Given the description of an element on the screen output the (x, y) to click on. 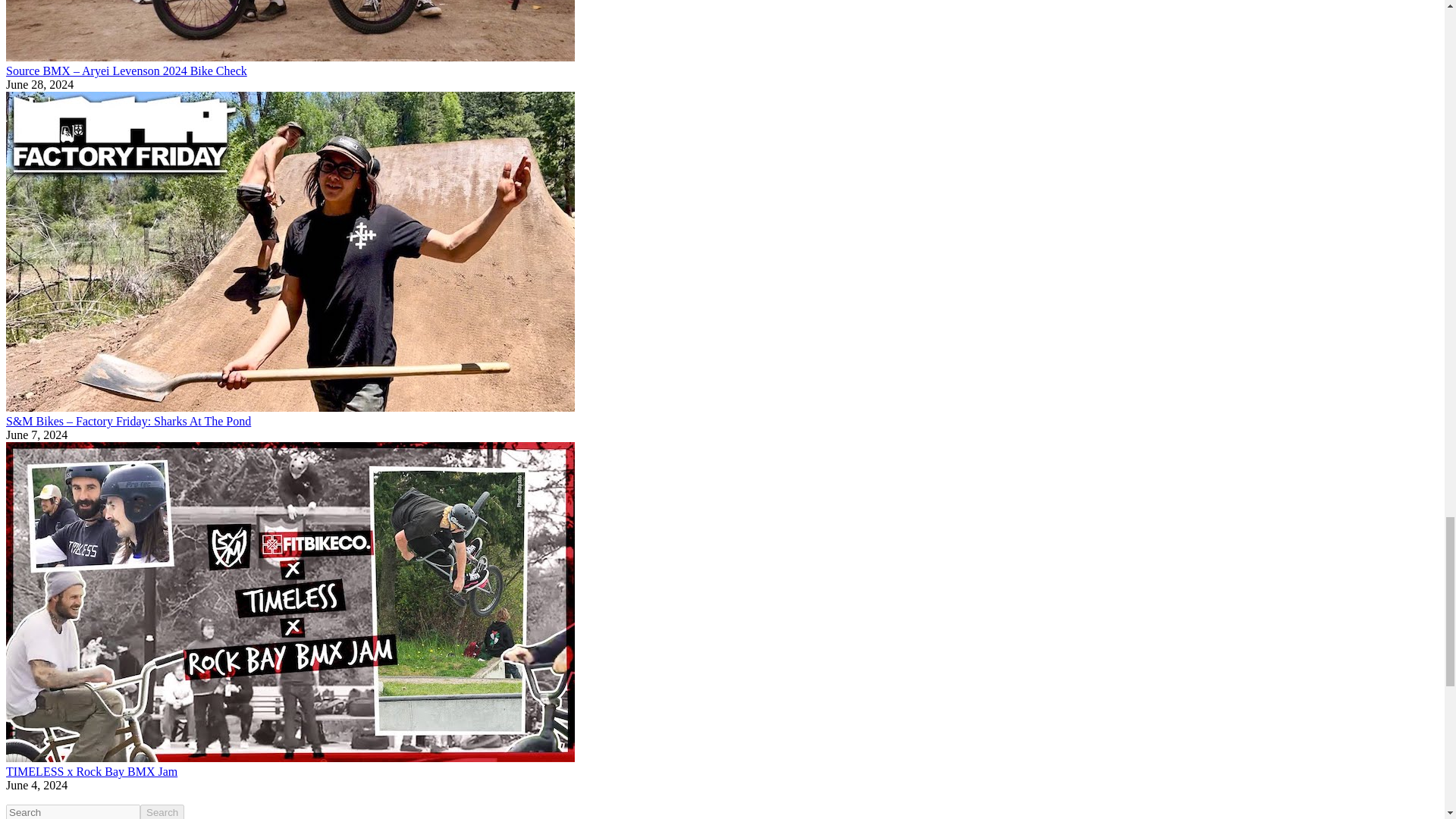
Search (161, 811)
Search (161, 811)
